Given the description of an element on the screen output the (x, y) to click on. 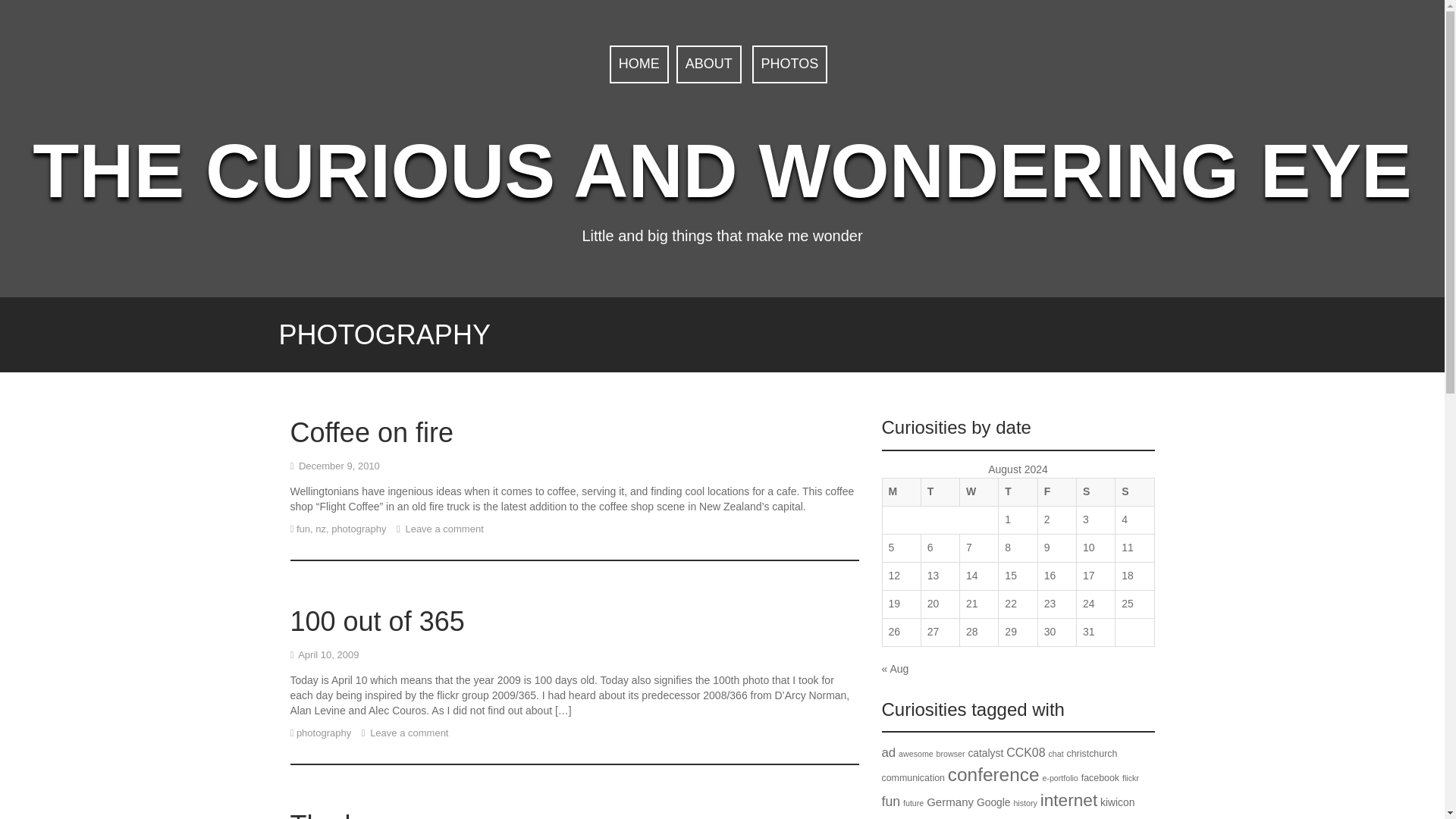
awesome (915, 753)
Leave a comment (408, 732)
ad (887, 752)
chat (1055, 753)
Tuesday (939, 491)
Sunday (1134, 491)
browser (950, 753)
Wednesday (978, 491)
Monday (901, 491)
Leave a comment (443, 528)
